Given the description of an element on the screen output the (x, y) to click on. 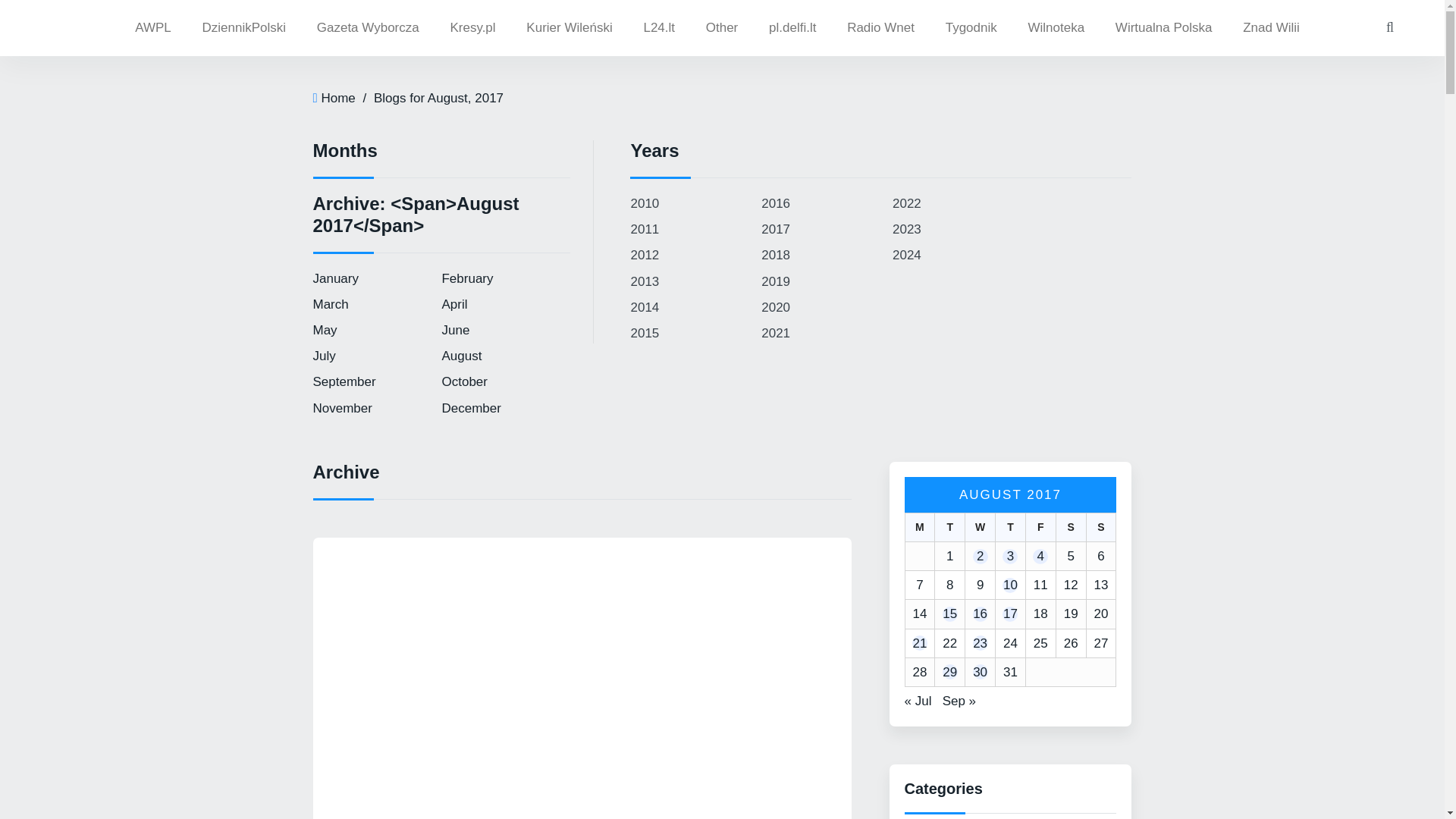
Home (337, 97)
October (463, 381)
Monday (919, 526)
Other (722, 28)
March (330, 304)
September (344, 381)
Radio Wnet (880, 28)
November (342, 408)
July (323, 355)
Wirtualna Polska (1163, 28)
Znad Wilii (1270, 28)
2014 (644, 307)
2010 (644, 203)
Thursday (1009, 526)
Wednesday (978, 526)
